Given the description of an element on the screen output the (x, y) to click on. 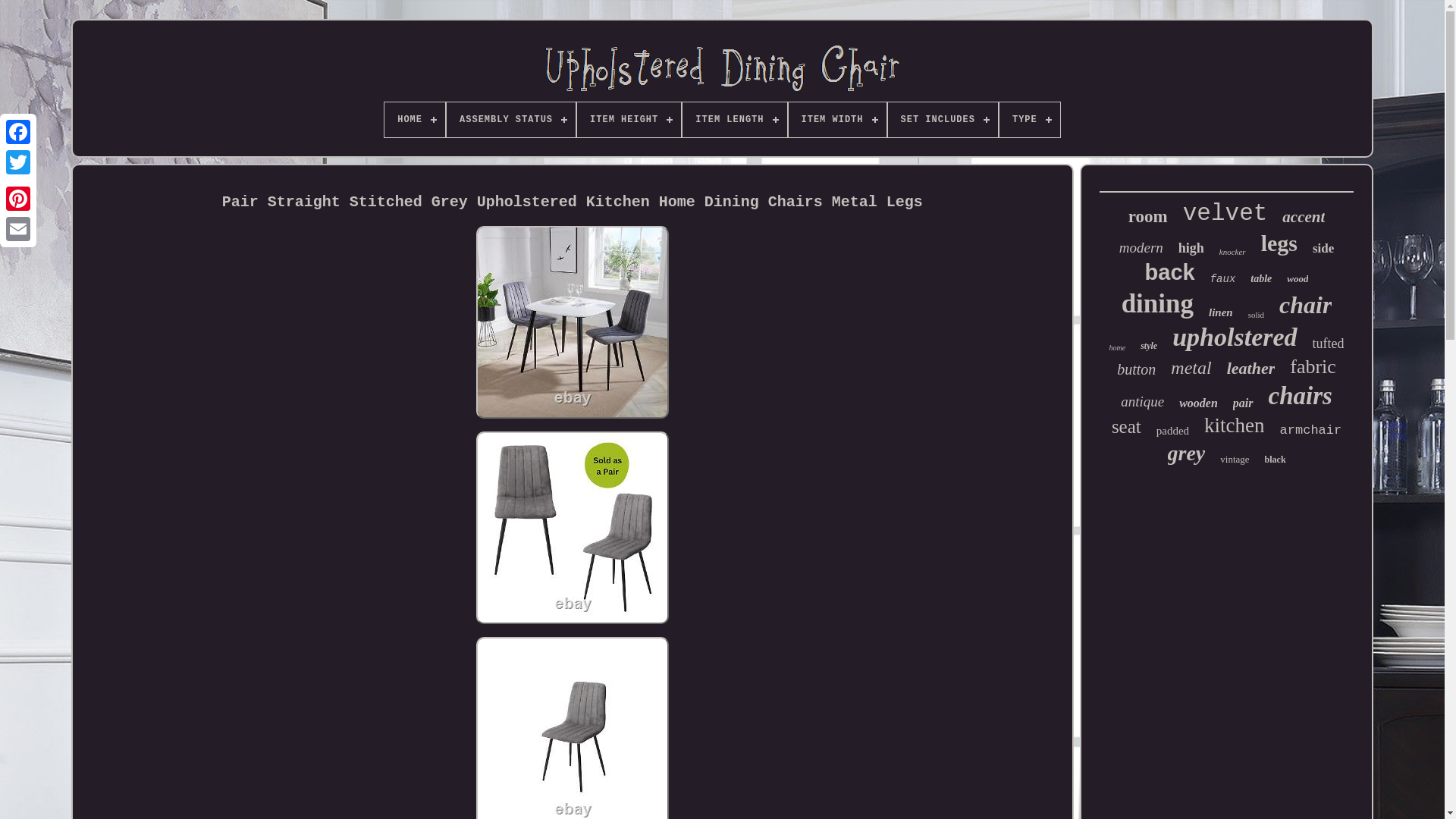
ASSEMBLY STATUS (510, 119)
ITEM LENGTH (734, 119)
HOME (414, 119)
ITEM HEIGHT (628, 119)
